Given the description of an element on the screen output the (x, y) to click on. 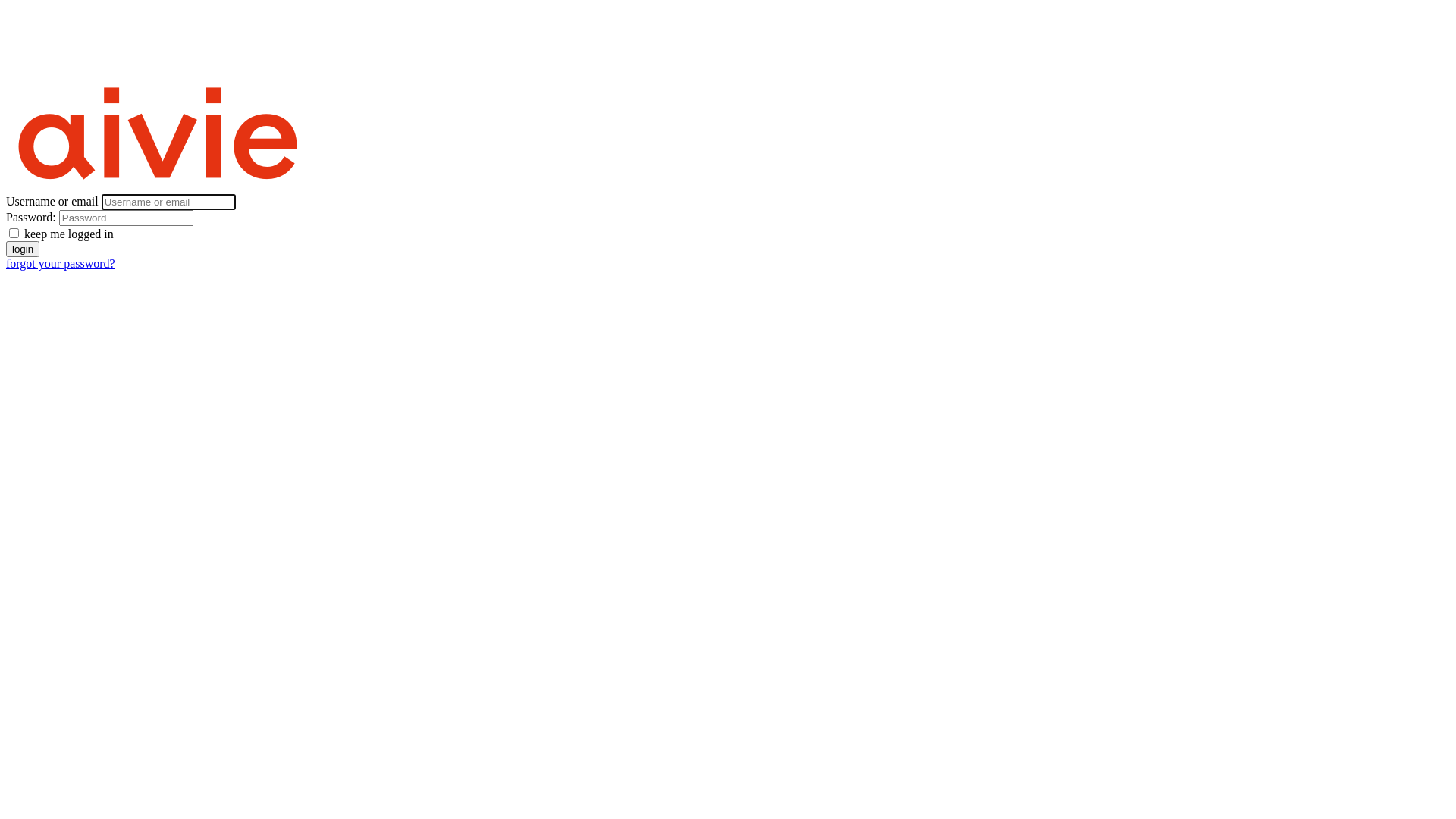
forgot your password? Element type: text (60, 263)
login Element type: text (22, 249)
